Given the description of an element on the screen output the (x, y) to click on. 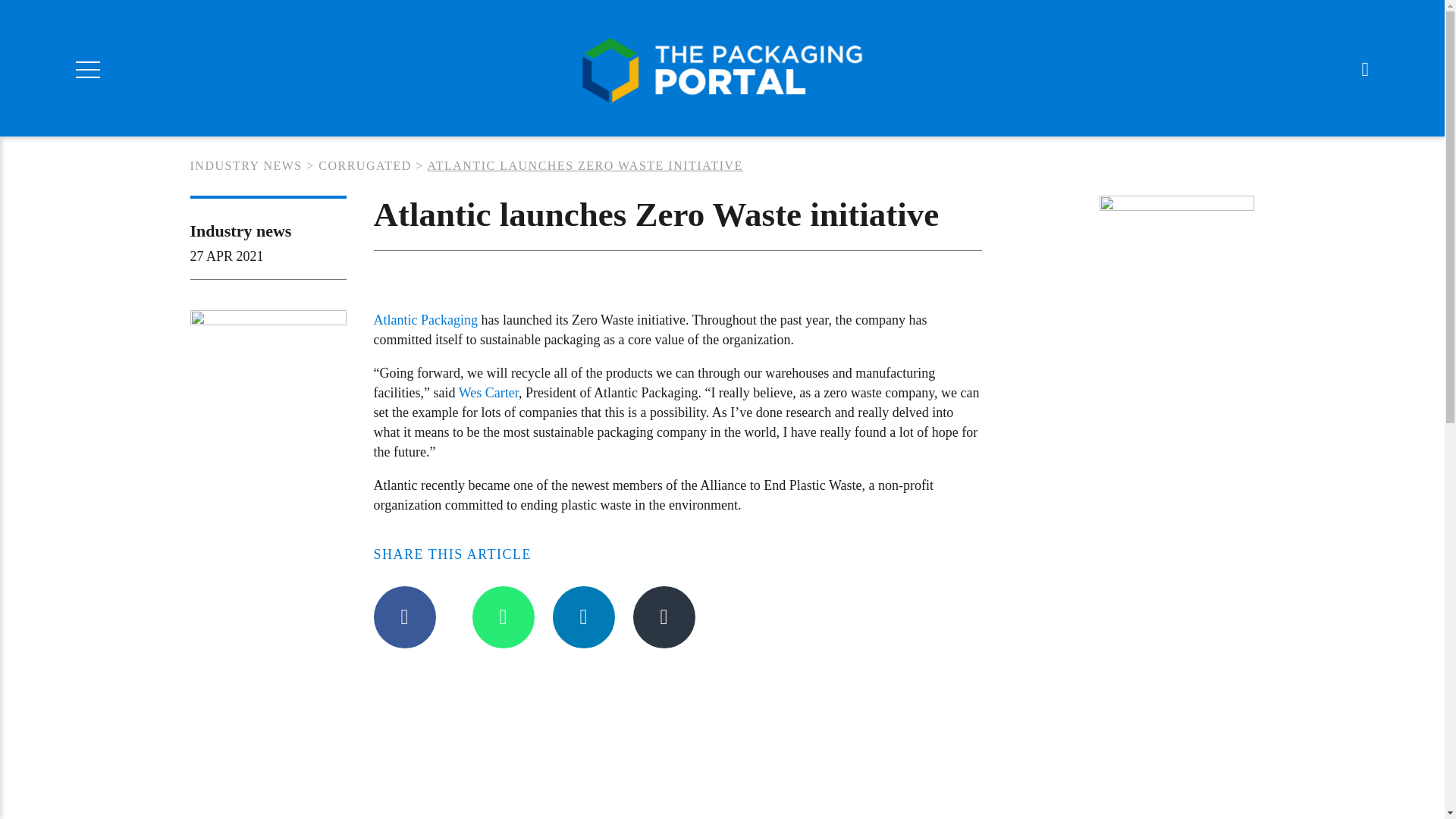
CORRUGATED (365, 164)
Atlantic Packaging (424, 319)
Send link to friend (662, 617)
Share on LinkedIn (582, 617)
Go to Industry news. (245, 164)
Share on Whatsapp (502, 617)
Wes Carter (488, 392)
Go to the Corrugated Categories archives. (365, 164)
INDUSTRY NEWS (245, 164)
Share on Facebook (403, 617)
